Given the description of an element on the screen output the (x, y) to click on. 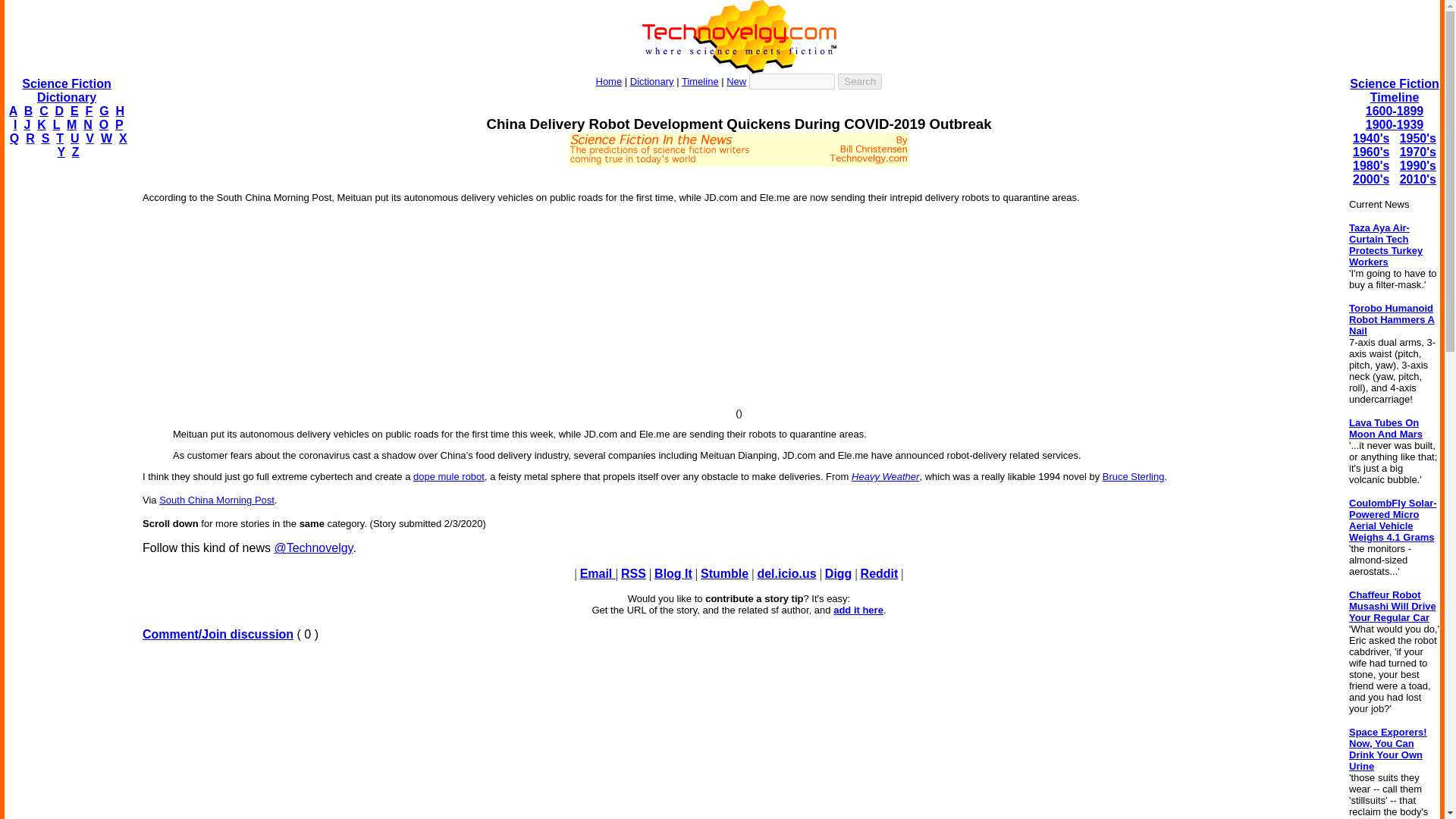
South China Morning Post (216, 500)
Dictionary (652, 81)
dope mule robot (448, 476)
Email (597, 573)
Timeline (700, 81)
Search (860, 81)
Bruce Sterling (1133, 476)
Home (609, 81)
Search (860, 81)
Heavy Weather (884, 476)
New (735, 81)
Science Fiction Dictionary (65, 90)
